Given the description of an element on the screen output the (x, y) to click on. 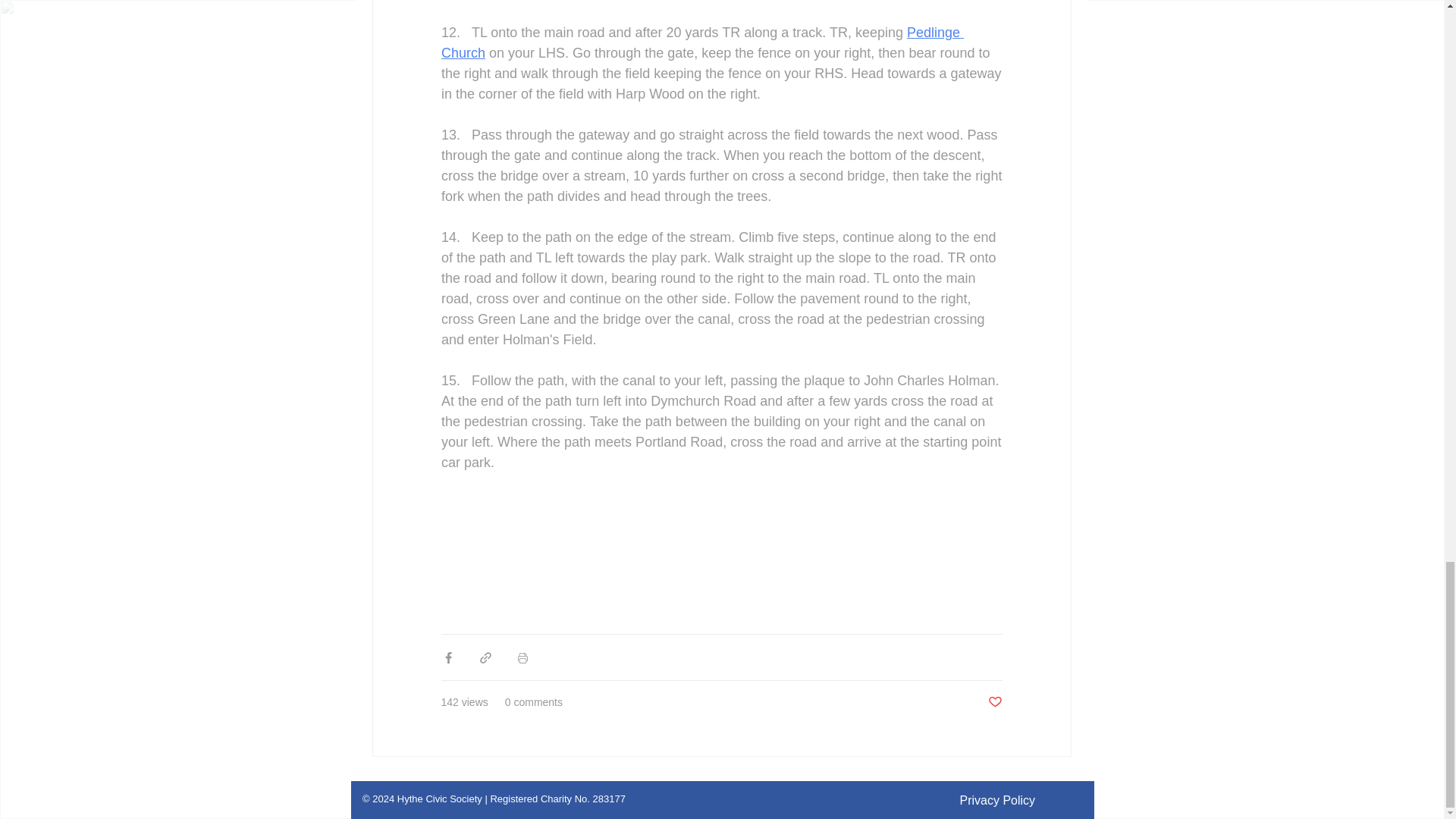
Post not marked as liked (994, 702)
Pedlinge Church (702, 42)
Privacy Policy (997, 799)
